Given the description of an element on the screen output the (x, y) to click on. 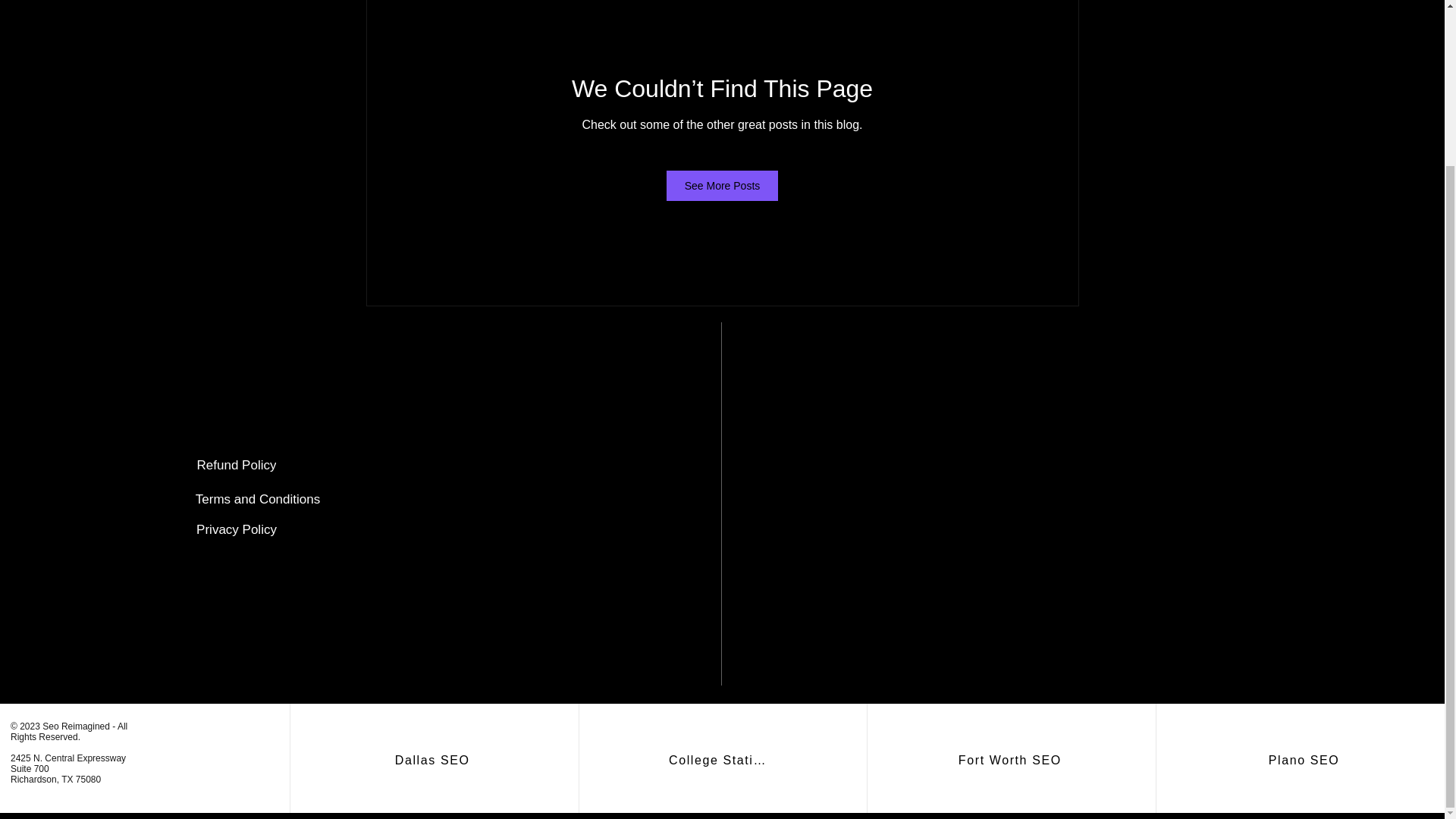
Refund Policy (236, 465)
Privacy Policy (236, 530)
College Station SEO (722, 760)
Fort Worth SEO (1011, 760)
See More Posts (722, 185)
Dallas SEO (433, 760)
Plano SEO (1305, 760)
Terms and Conditions (258, 499)
